Given the description of an element on the screen output the (x, y) to click on. 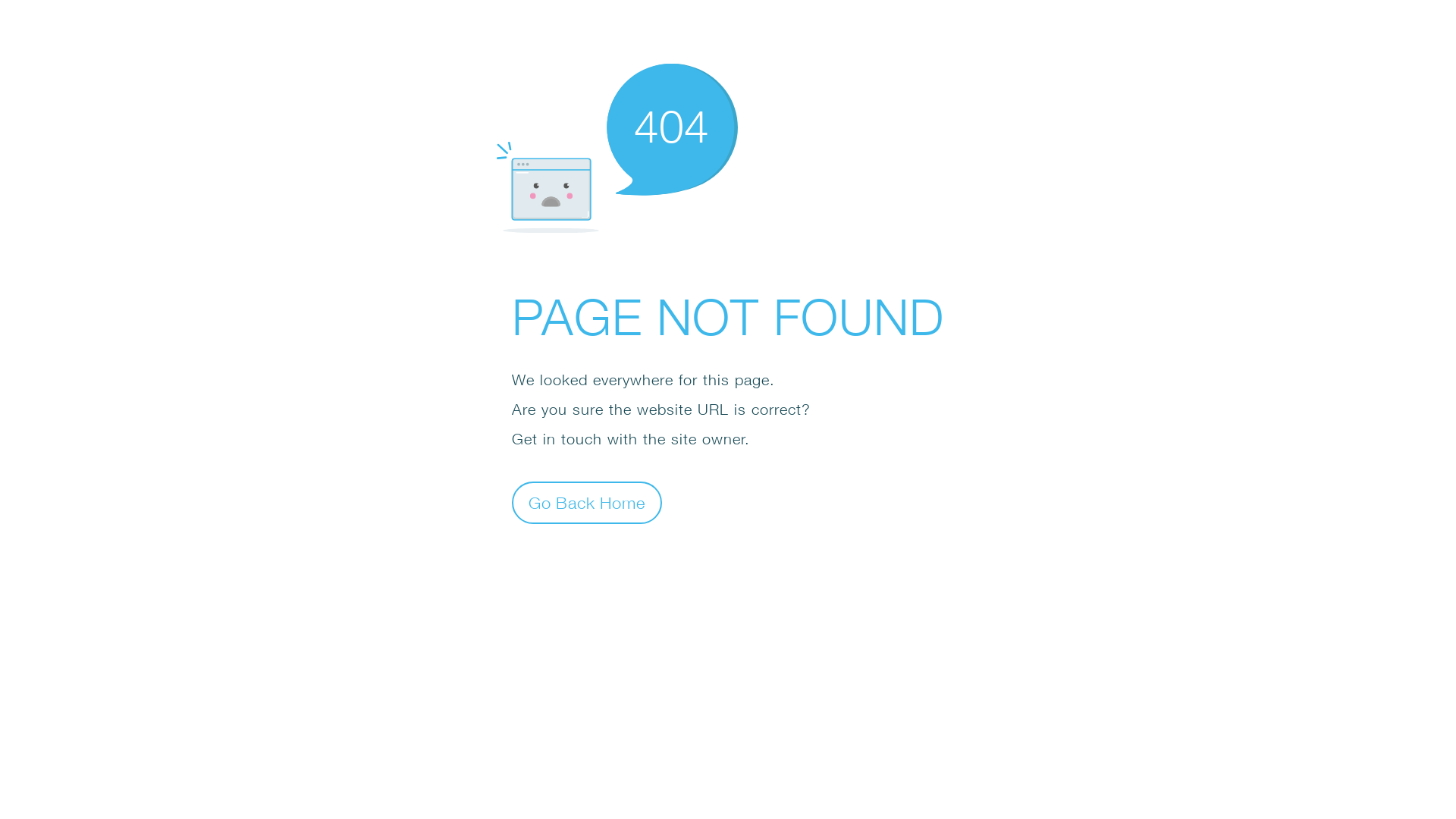
Go Back Home Element type: text (586, 502)
